Given the description of an element on the screen output the (x, y) to click on. 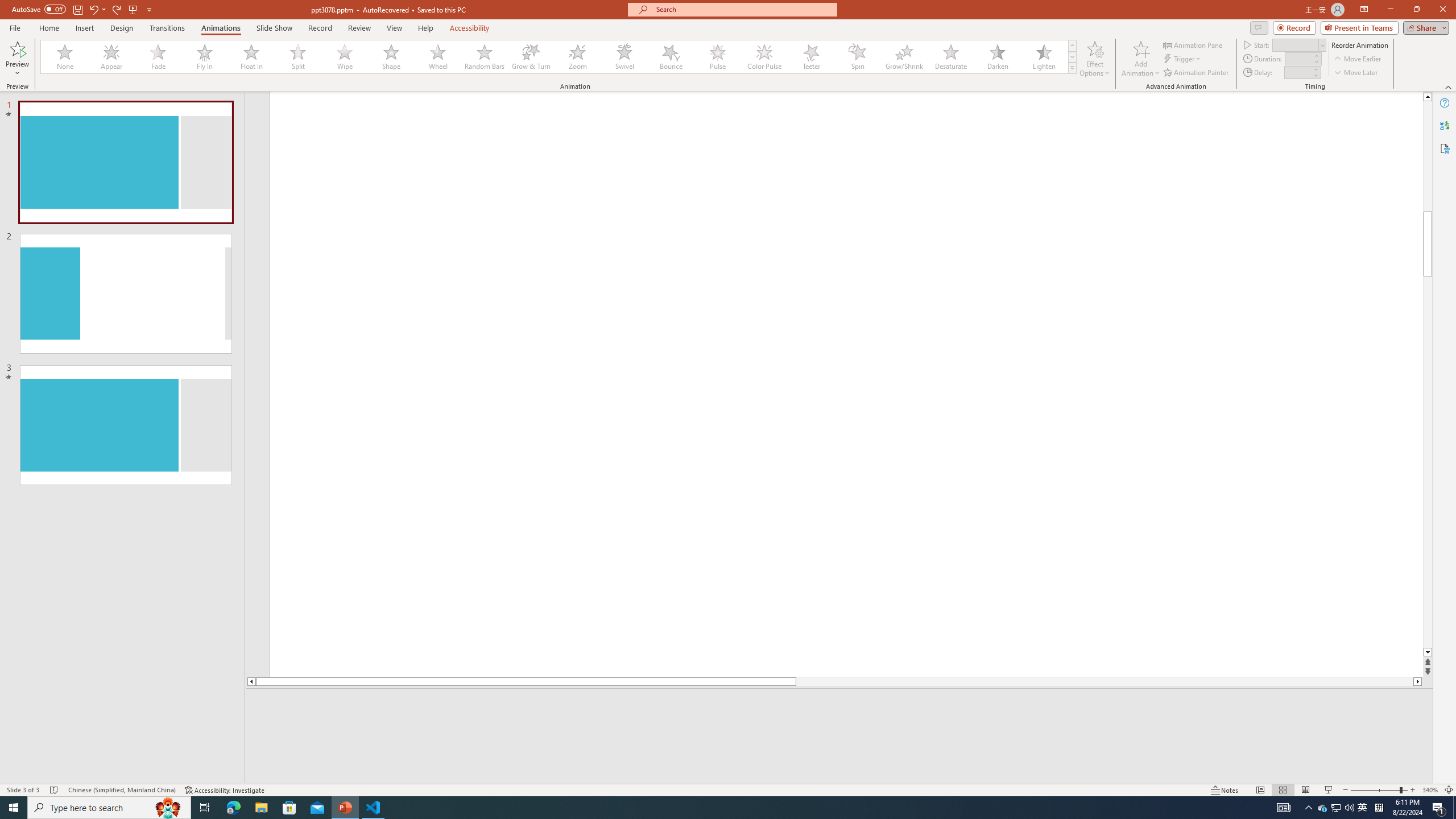
Swivel (624, 56)
Float In (251, 56)
Pulse (717, 56)
Random Bars (484, 56)
Animation Painter (1196, 72)
